Given the description of an element on the screen output the (x, y) to click on. 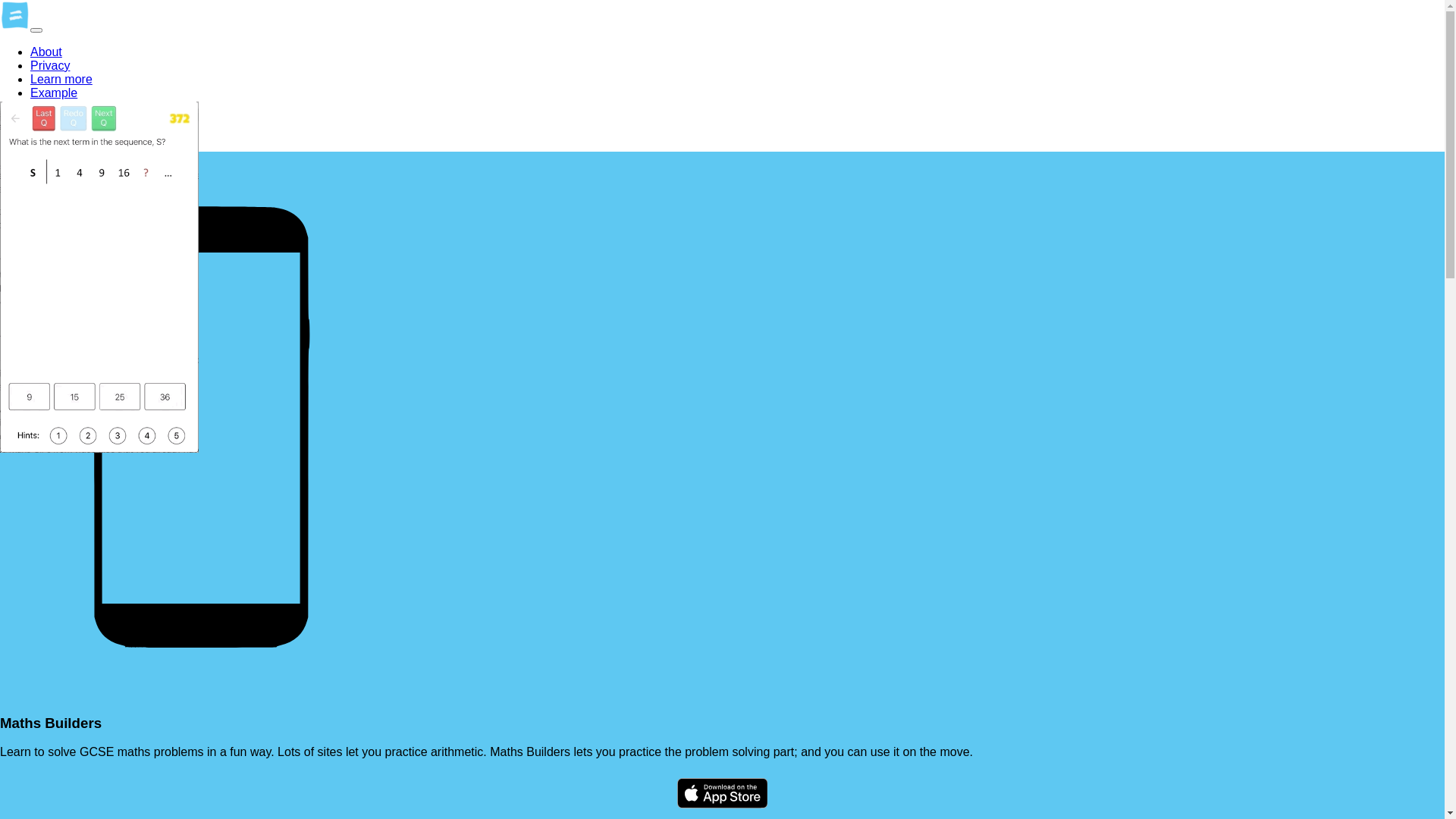
Privacy Element type: text (49, 65)
Show me Element type: text (55, 106)
Learn more Element type: text (61, 78)
Download_on_the_App_Store_Badge_US-UK_RGB_blk_4SVG_092917 Element type: text (722, 794)
Example Element type: text (53, 92)
About Element type: text (46, 51)
